Given the description of an element on the screen output the (x, y) to click on. 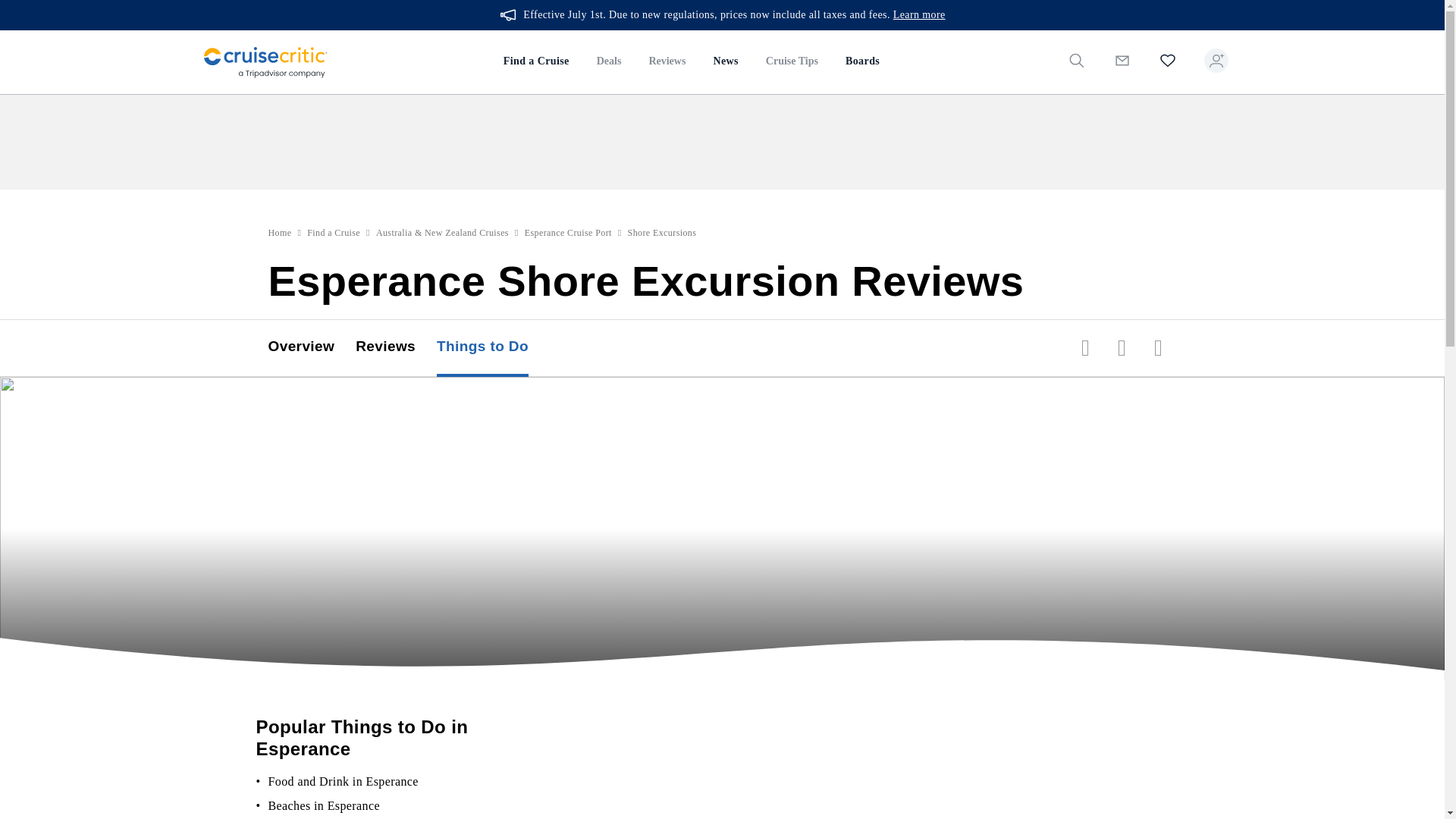
Learn more (918, 15)
Home (279, 232)
Reviews (395, 347)
Reviews (666, 62)
Cruise Tips (791, 62)
Find a Cruise (333, 232)
Find a Cruise (536, 62)
Esperance Cruise Port (567, 232)
Boards (861, 62)
Show more (294, 817)
